Given the description of an element on the screen output the (x, y) to click on. 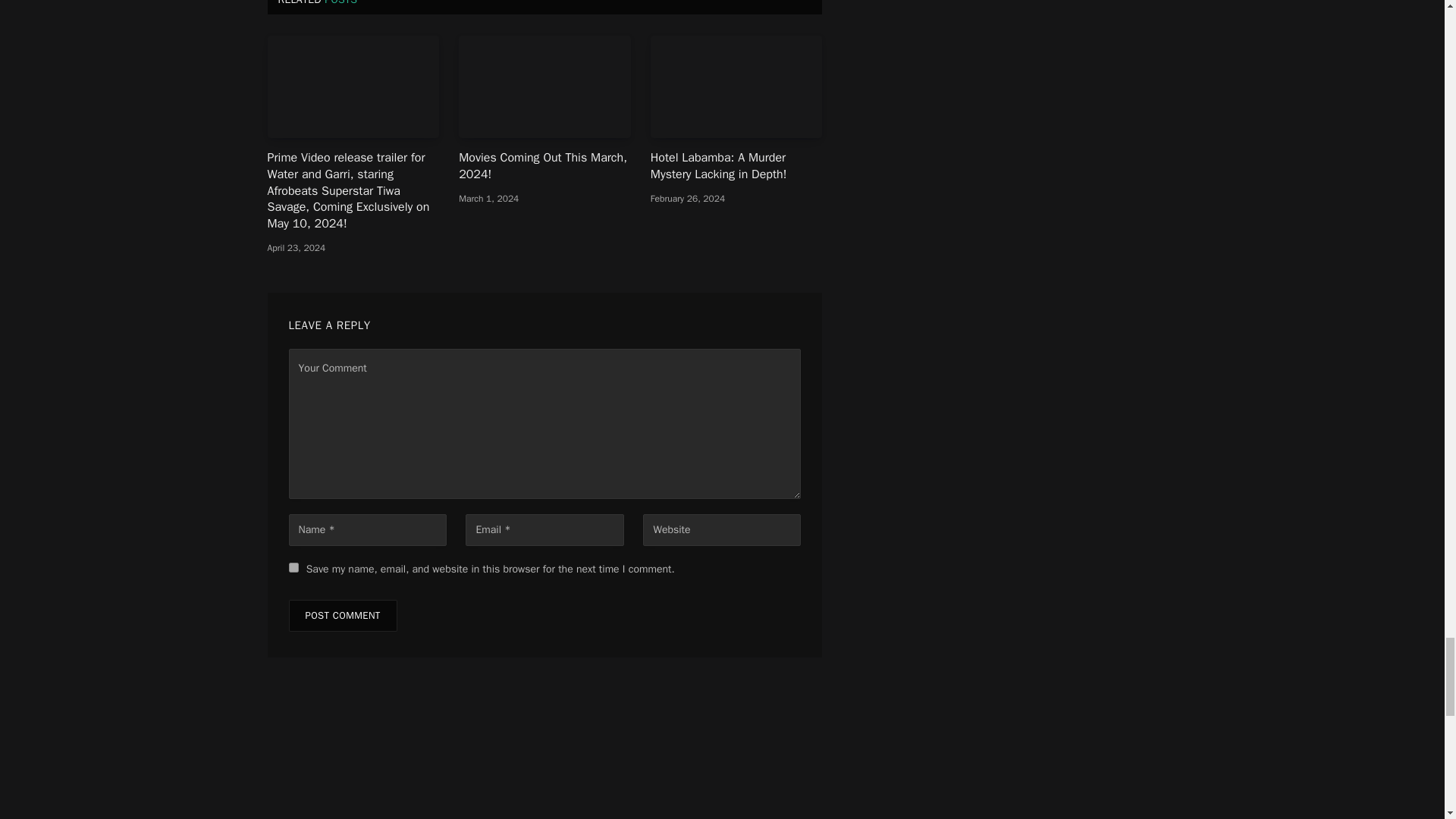
Subscribe (721, 588)
Post Comment (342, 204)
on (623, 625)
yes (293, 155)
